Given the description of an element on the screen output the (x, y) to click on. 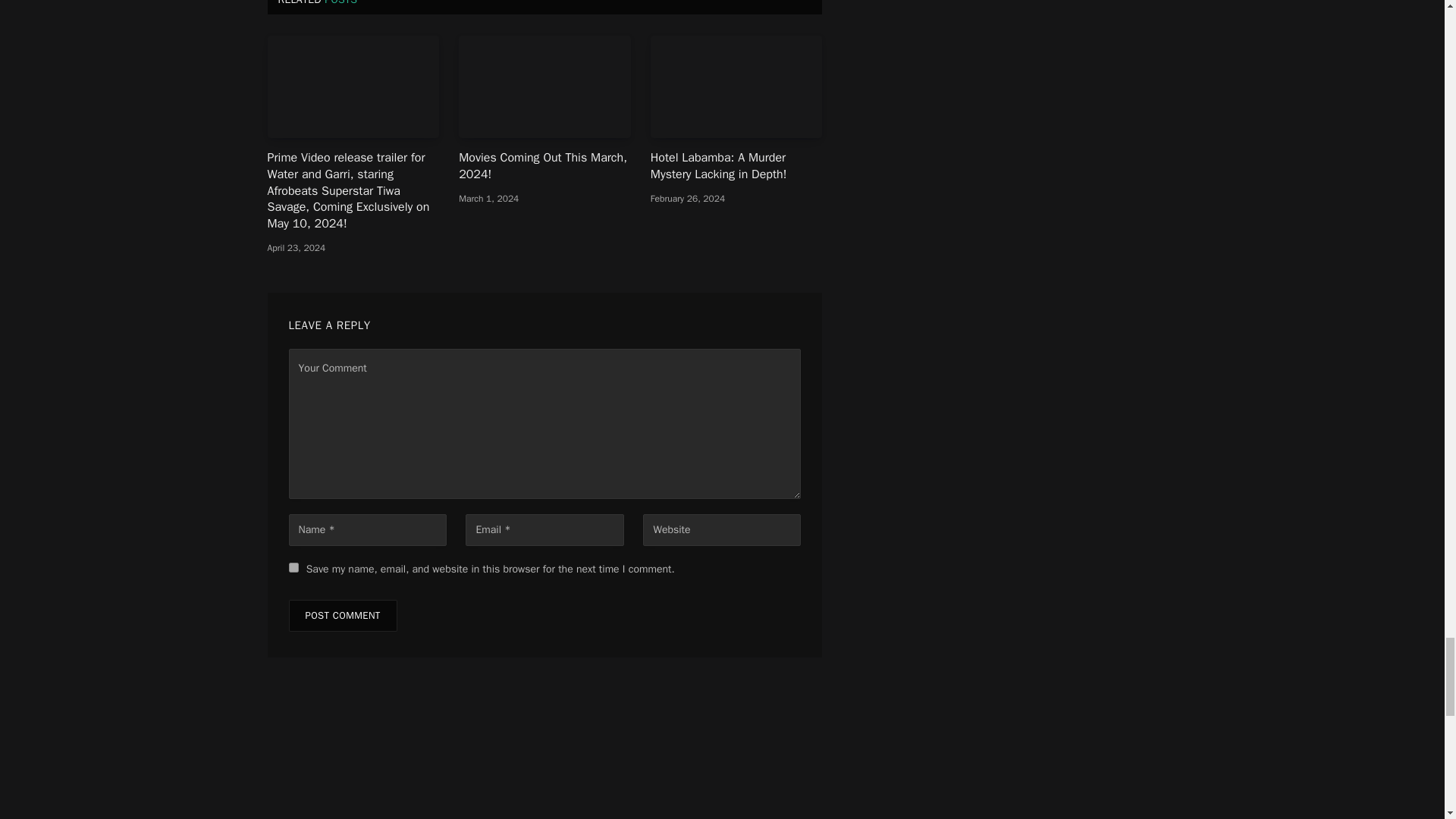
Subscribe (721, 588)
Post Comment (342, 204)
on (623, 625)
yes (293, 155)
